Given the description of an element on the screen output the (x, y) to click on. 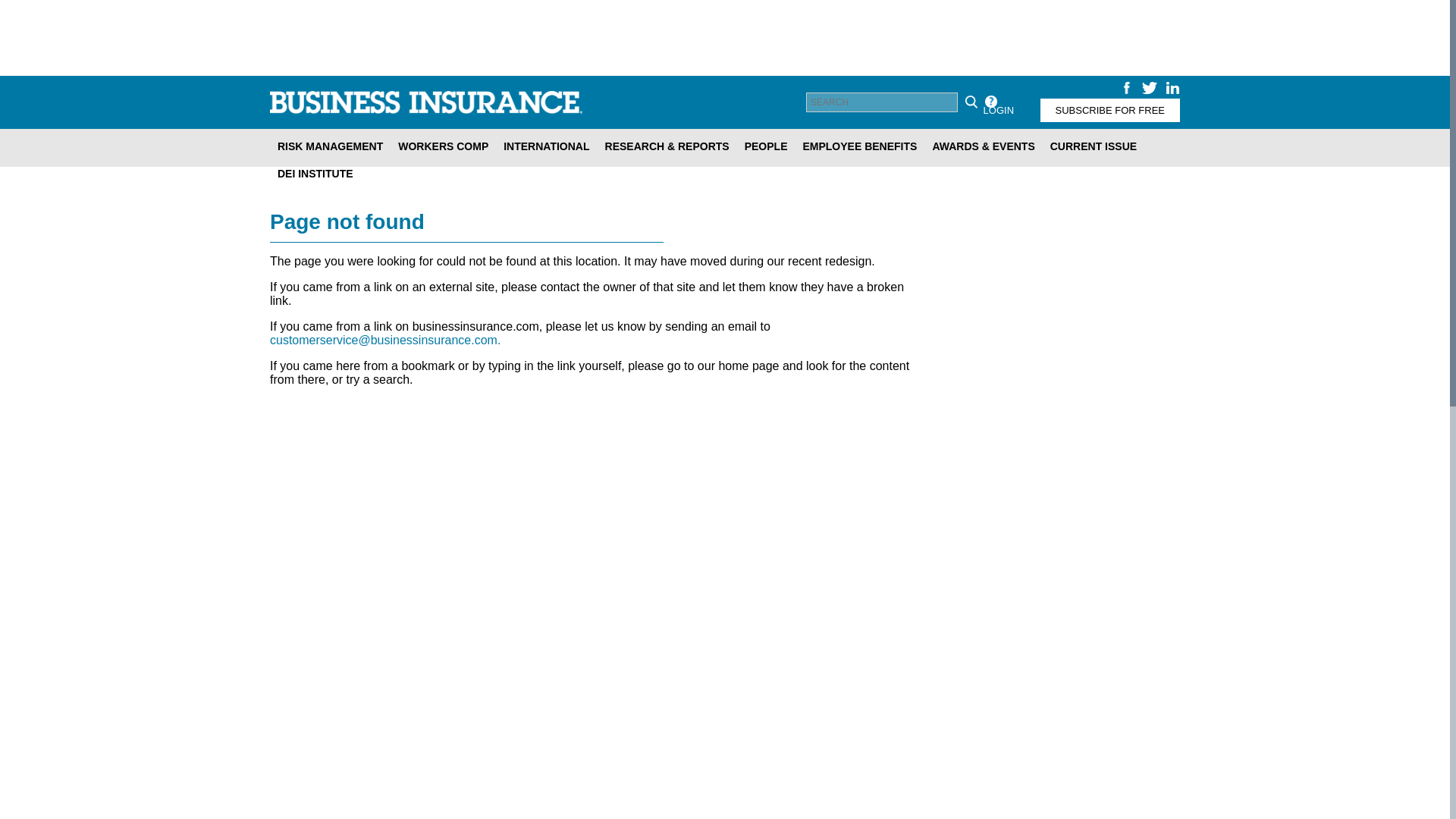
RISK MANAGEMENT (329, 145)
SUBSCRIBE FOR FREE (1110, 110)
INTERNATIONAL (546, 145)
PEOPLE (765, 145)
Help (990, 101)
LOGIN (998, 110)
WORKERS COMP (443, 145)
